Given the description of an element on the screen output the (x, y) to click on. 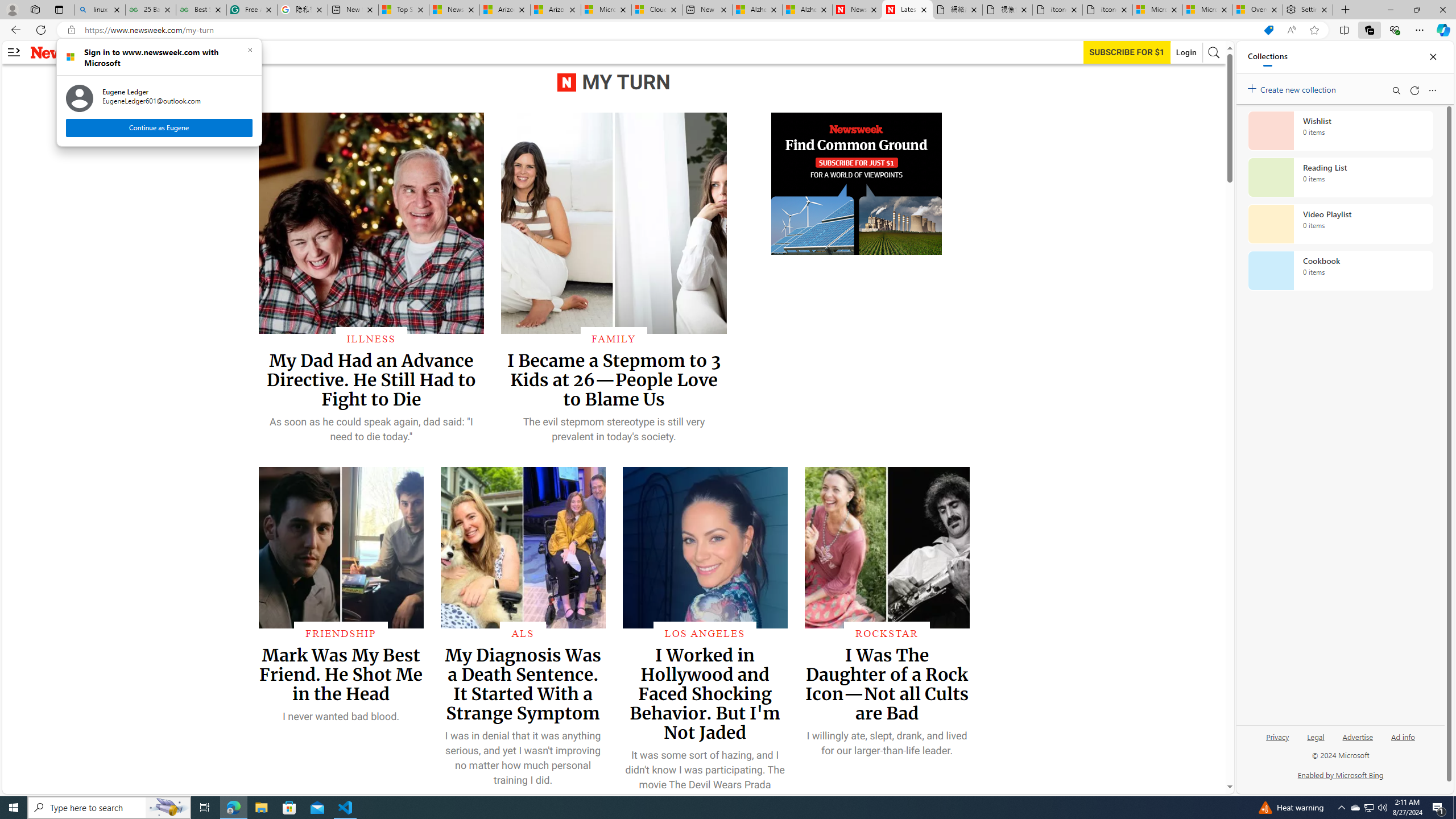
25 Basic Linux Commands For Beginners - GeeksforGeeks (150, 9)
Notification Chevron (1341, 807)
Subscribe to our service (1126, 52)
AutomationID: side-arrow (13, 51)
Reading List collection, 0 items (1339, 177)
Shopping in Microsoft Edge (1268, 29)
Advertise (1358, 741)
itconcepthk.com/projector_solutions.mp4 (1107, 9)
ILLNESS (371, 338)
Free AI Writing Assistance for Students | Grammarly (251, 9)
